Given the description of an element on the screen output the (x, y) to click on. 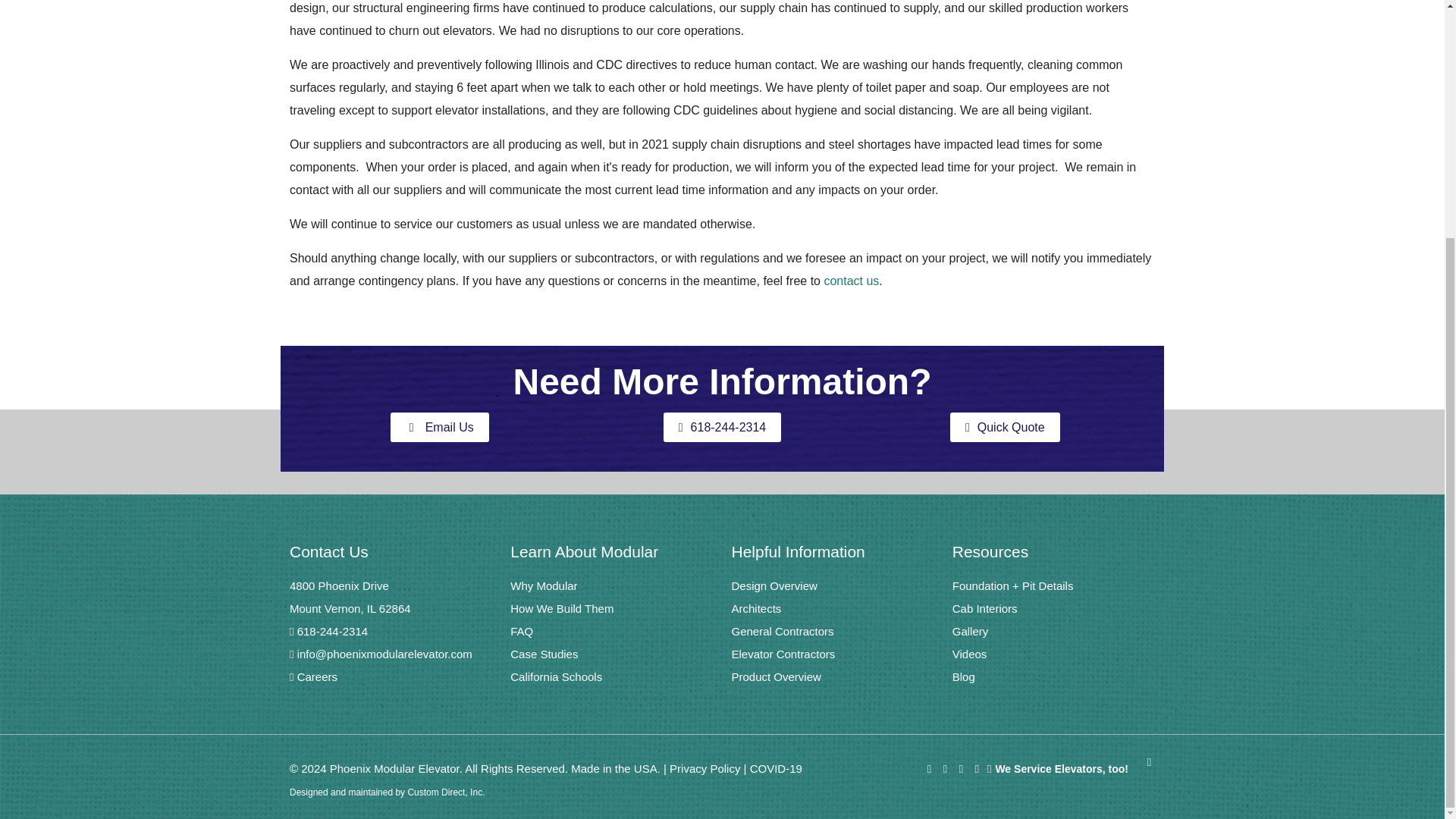
Phoenix Elevator Service (1057, 768)
